Given the description of an element on the screen output the (x, y) to click on. 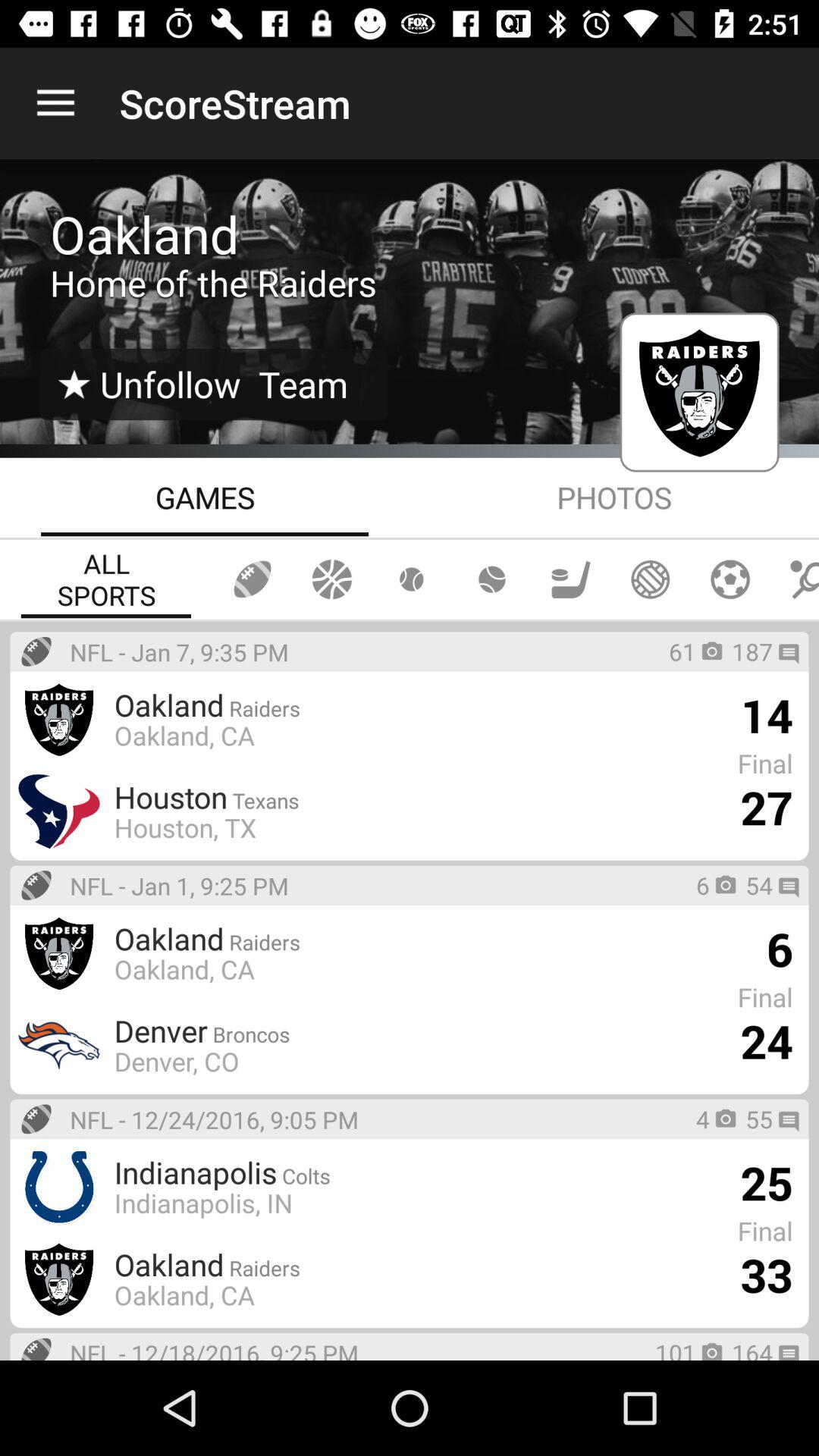
press item above the 14 icon (751, 651)
